Given the description of an element on the screen output the (x, y) to click on. 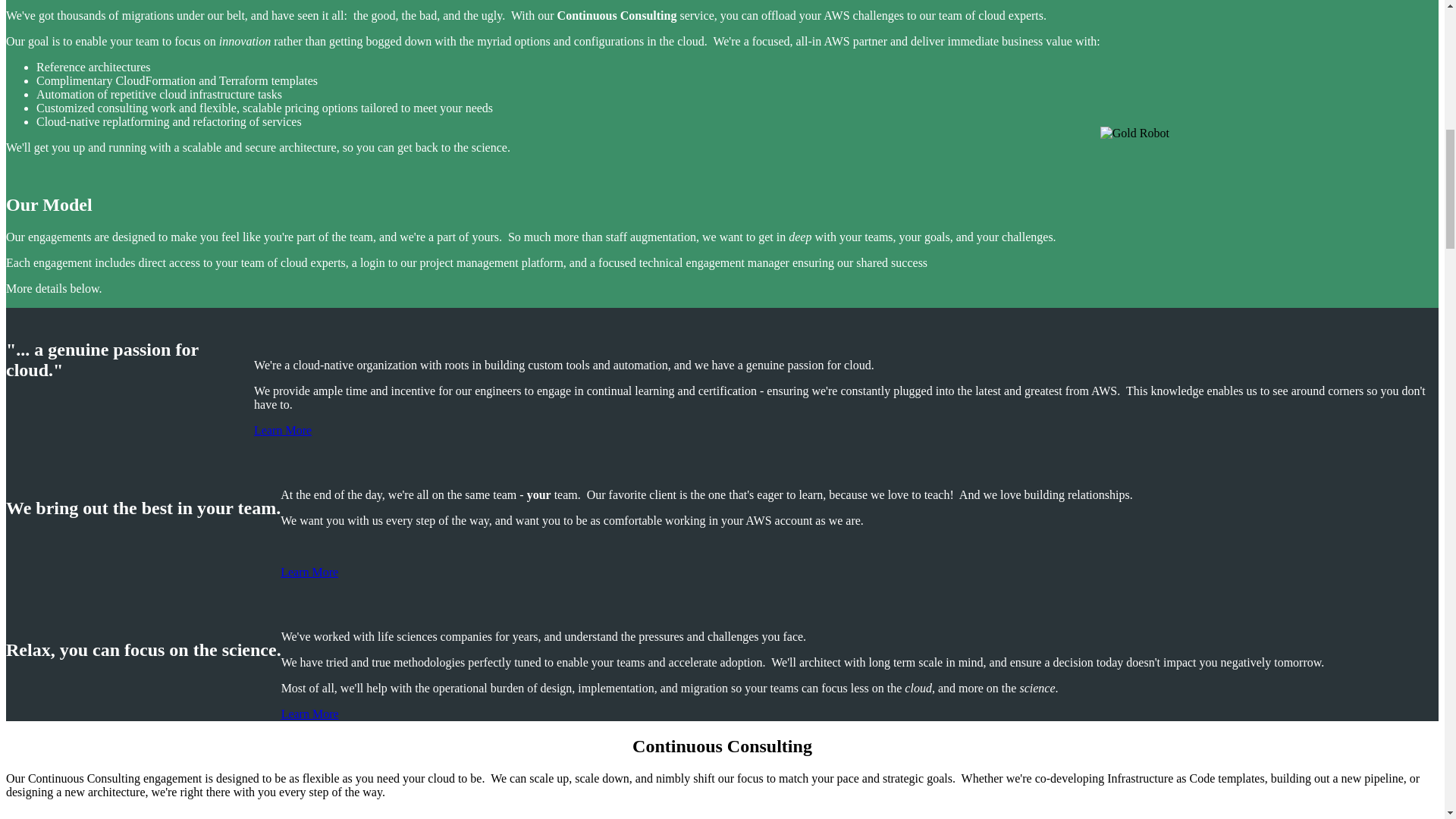
Learn More (309, 571)
Gold Robot (1134, 133)
Learn More (310, 713)
Learn More (282, 430)
